Given the description of an element on the screen output the (x, y) to click on. 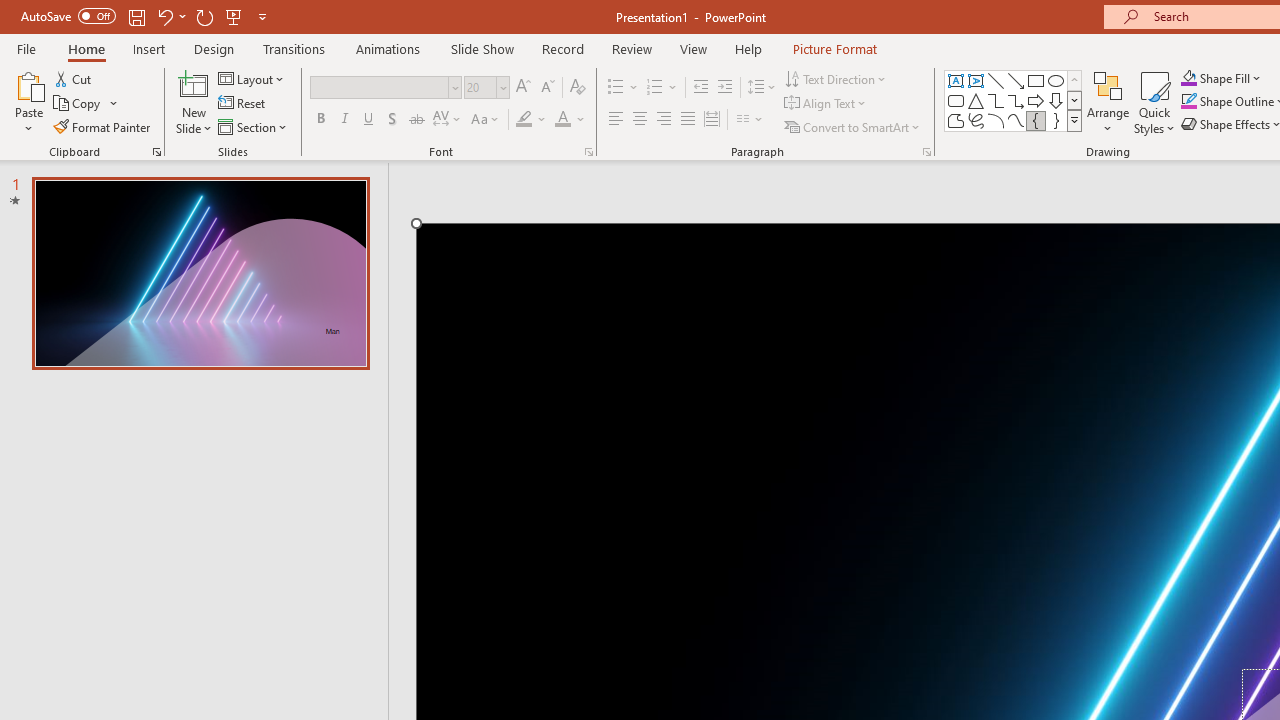
Picture Format (834, 48)
